Given the description of an element on the screen output the (x, y) to click on. 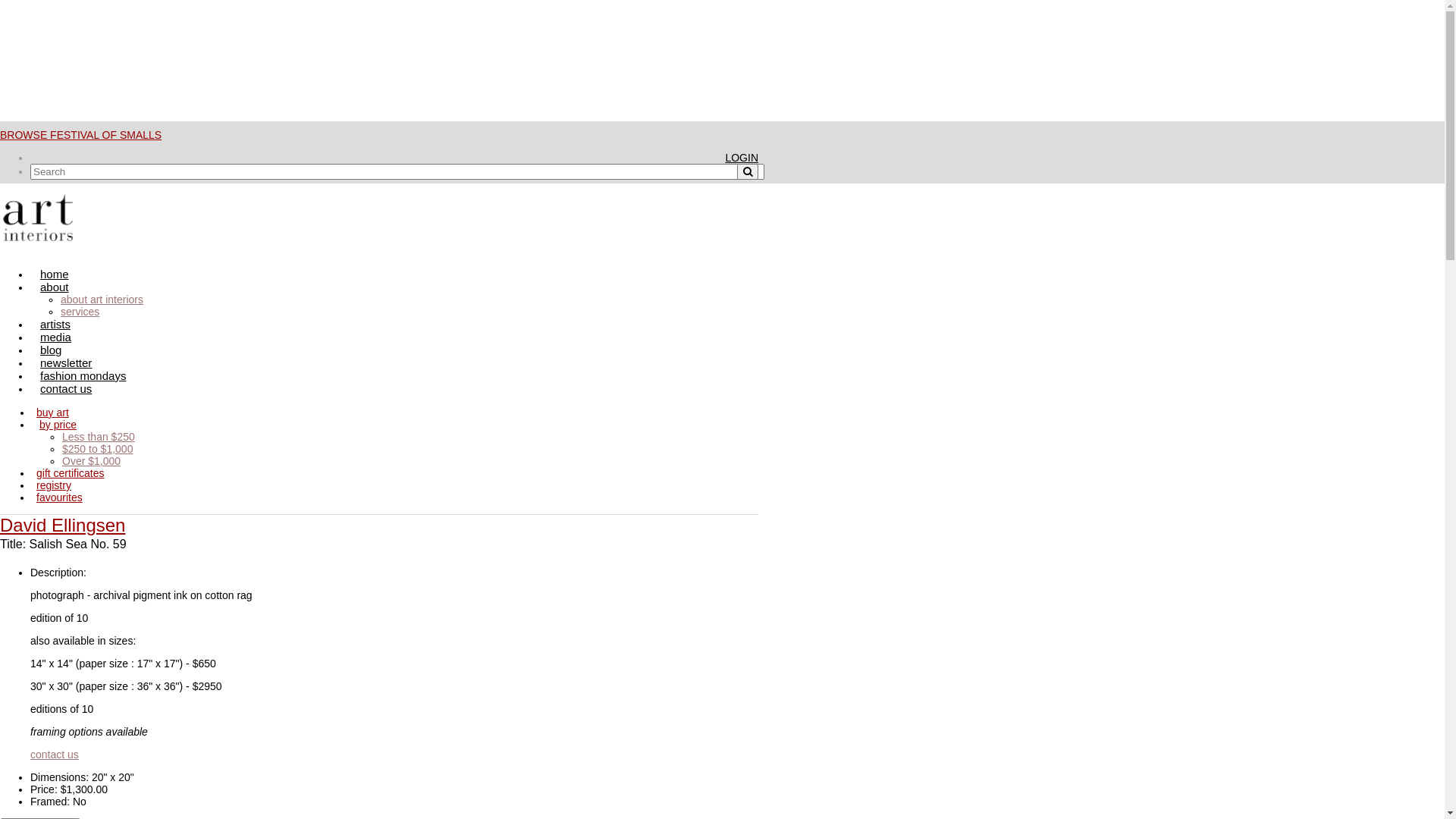
LOGIN Element type: text (741, 157)
Less than $250 Element type: text (98, 436)
fashion mondays Element type: text (82, 375)
contact us Element type: text (65, 388)
Over $1,000 Element type: text (91, 461)
about Element type: text (54, 286)
home Element type: text (54, 273)
blog Element type: text (50, 349)
BROWSE FESTIVAL OF SMALLS Element type: text (80, 134)
$250 to $1,000 Element type: text (97, 448)
contact us Element type: text (54, 754)
newsletter Element type: text (65, 362)
media Element type: text (55, 336)
artists Element type: text (55, 323)
buy art Element type: text (53, 412)
favourites Element type: text (60, 497)
gift certificates Element type: text (71, 473)
by price Element type: text (57, 424)
services Element type: text (79, 311)
registry Element type: text (54, 485)
David Ellingsen Element type: text (62, 524)
about art interiors Element type: text (101, 299)
